Given the description of an element on the screen output the (x, y) to click on. 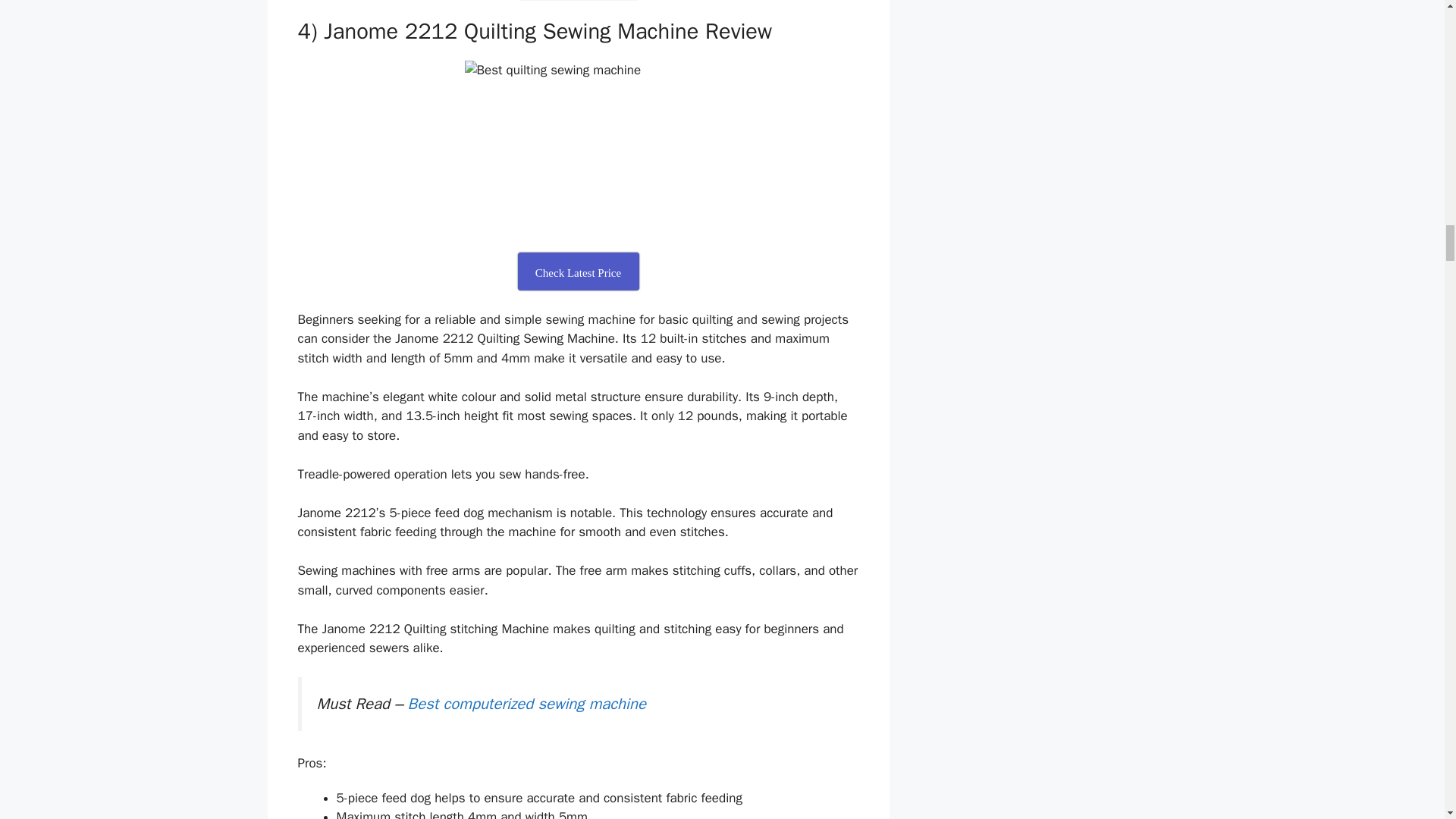
Check Latest Price (577, 271)
Best computerized sewing machine (526, 703)
